Given the description of an element on the screen output the (x, y) to click on. 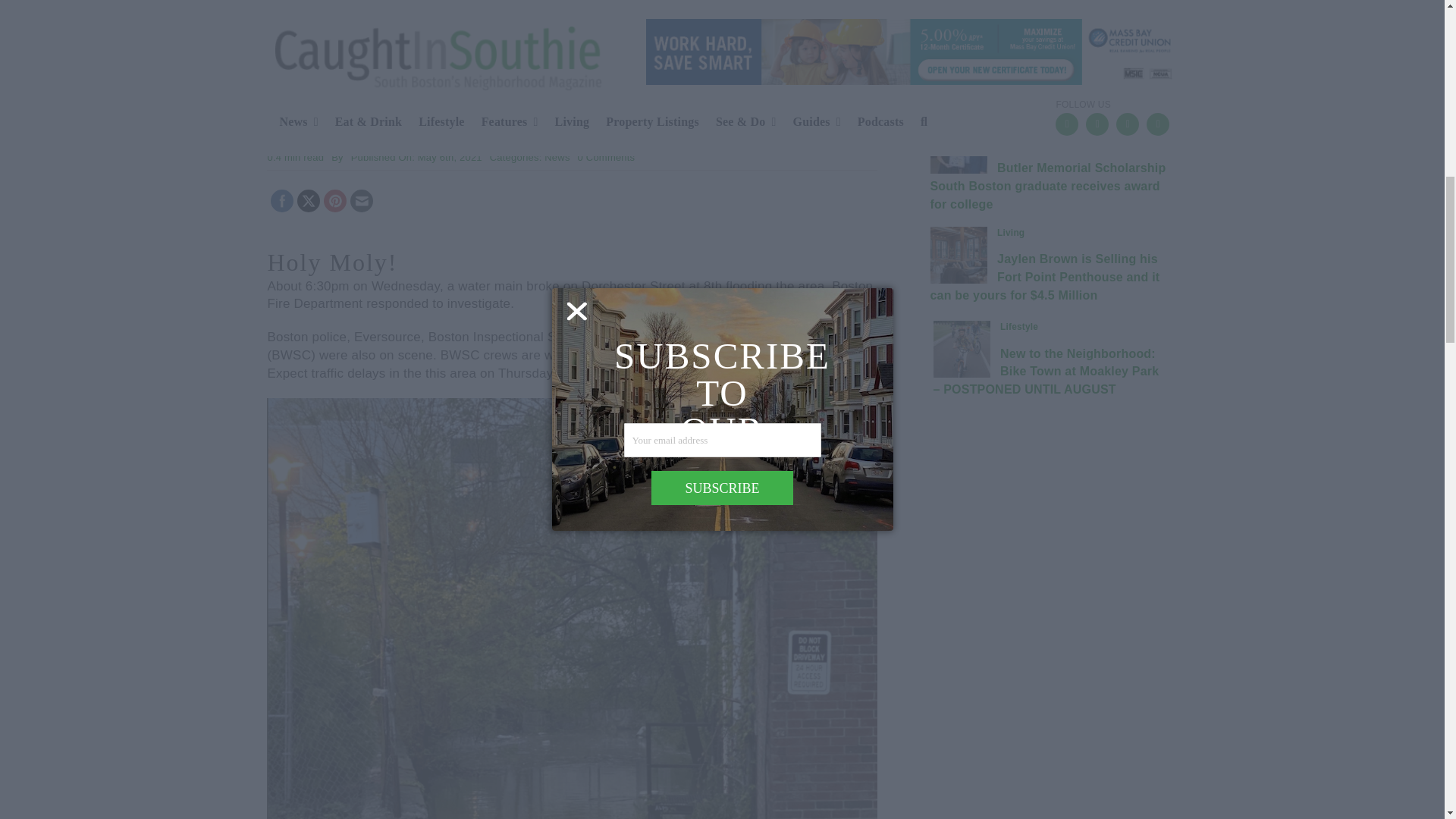
Pinterest (335, 201)
Follow by Email (361, 201)
Facebook (282, 201)
Twitter (308, 201)
